Given the description of an element on the screen output the (x, y) to click on. 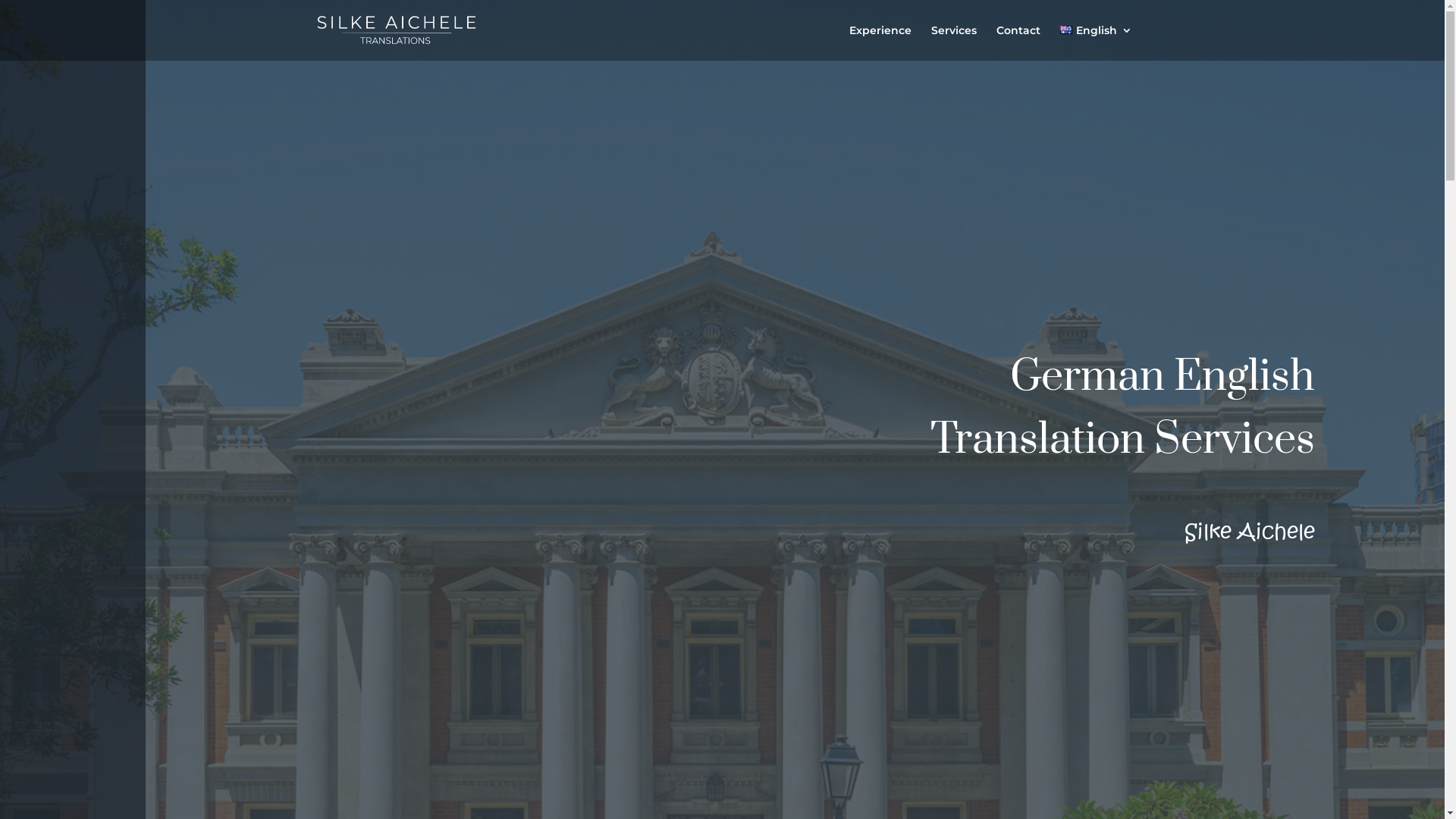
Experience Element type: text (880, 42)
Contact Element type: text (1018, 42)
Services Element type: text (953, 42)
English Element type: text (1095, 42)
